Given the description of an element on the screen output the (x, y) to click on. 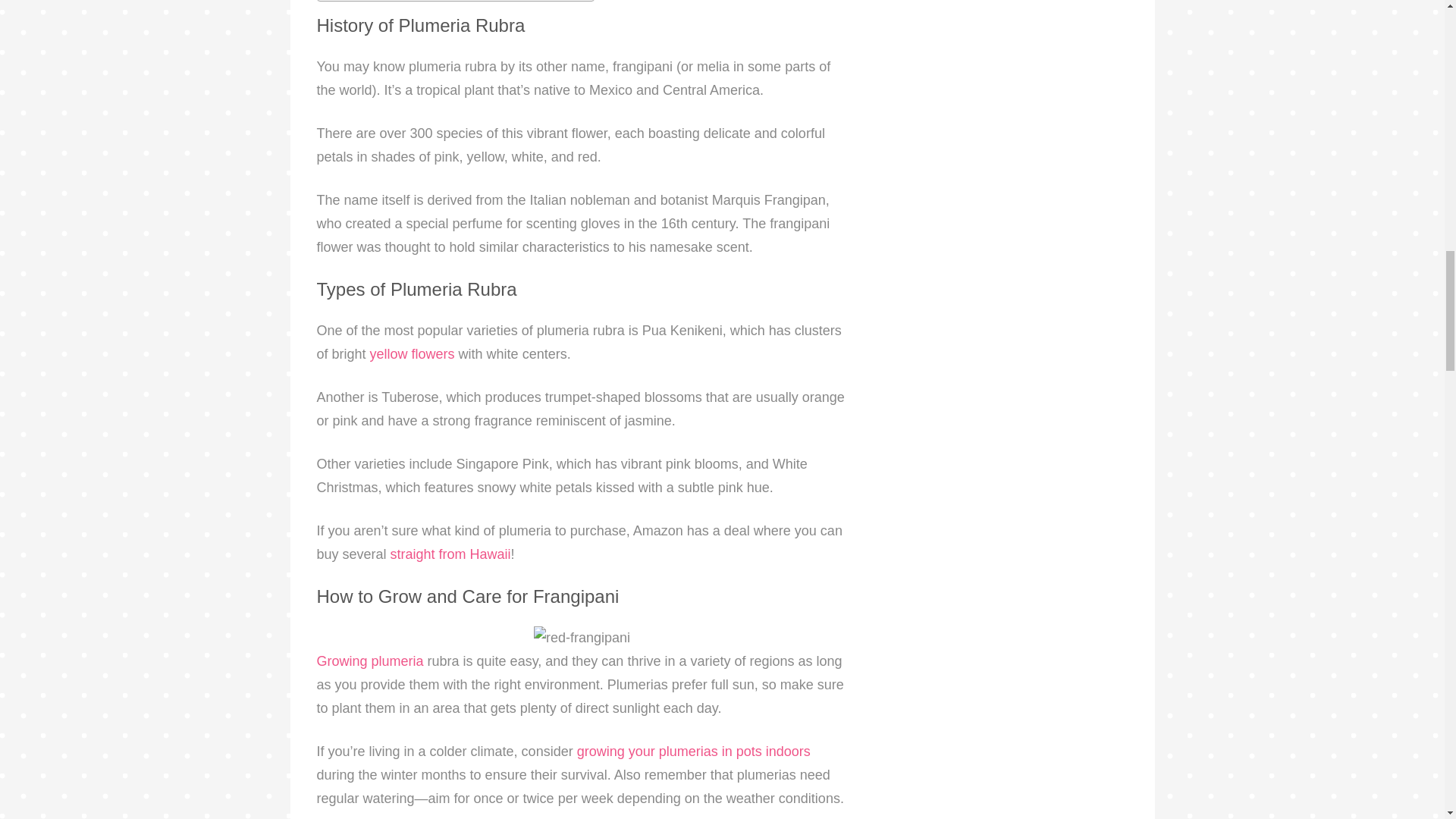
growing your plumerias in pots indoors (693, 751)
yellow flowers (411, 353)
Growing plumeria (370, 661)
straight from Hawaii (450, 554)
